Given the description of an element on the screen output the (x, y) to click on. 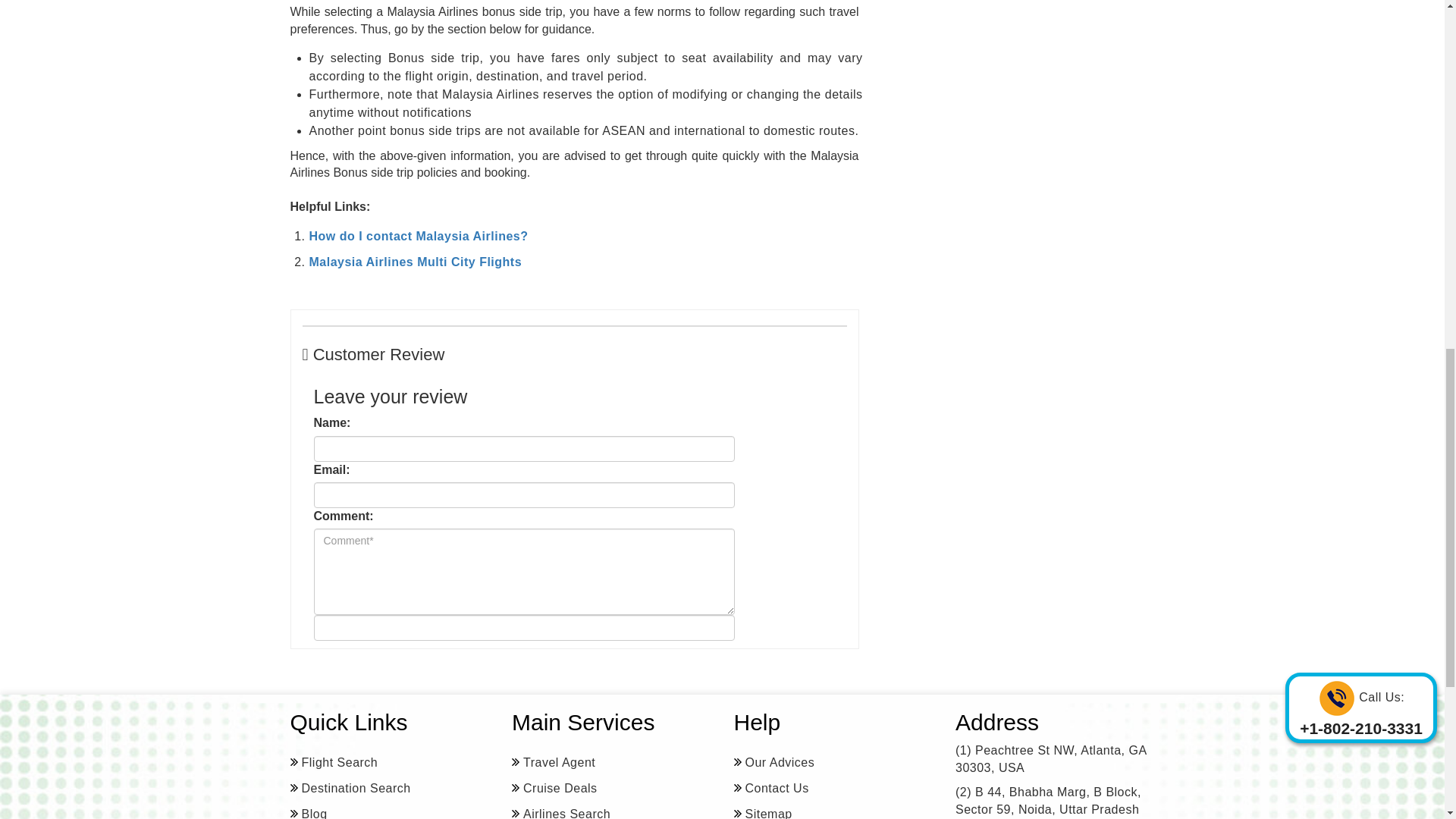
How do I contact Malaysia Airlines? (418, 236)
Destination Search (349, 788)
Flight Search (333, 762)
Cruise Deals (554, 788)
Blog (307, 812)
Travel Agent (553, 762)
Malaysia Airlines Multi City Flights (415, 261)
Airlines Search (561, 812)
Submit (524, 627)
